Given the description of an element on the screen output the (x, y) to click on. 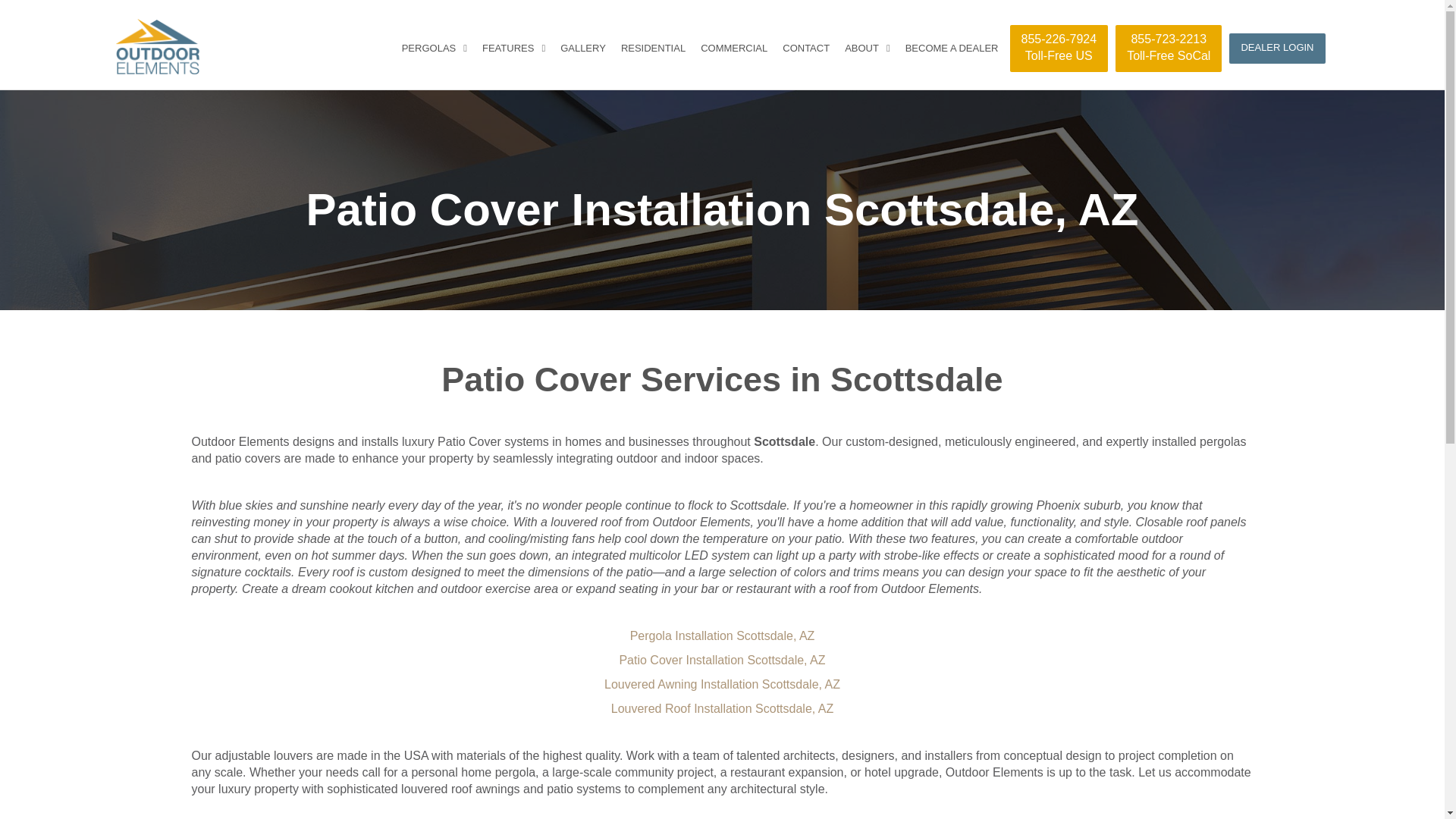
RESIDENTIAL (652, 48)
ABOUT (867, 48)
oe-logo (156, 46)
GALLERY (583, 48)
COMMERCIAL (734, 48)
BECOME A DEALER (952, 48)
DEALER LOGIN (1059, 48)
FEATURES (1168, 48)
